Given the description of an element on the screen output the (x, y) to click on. 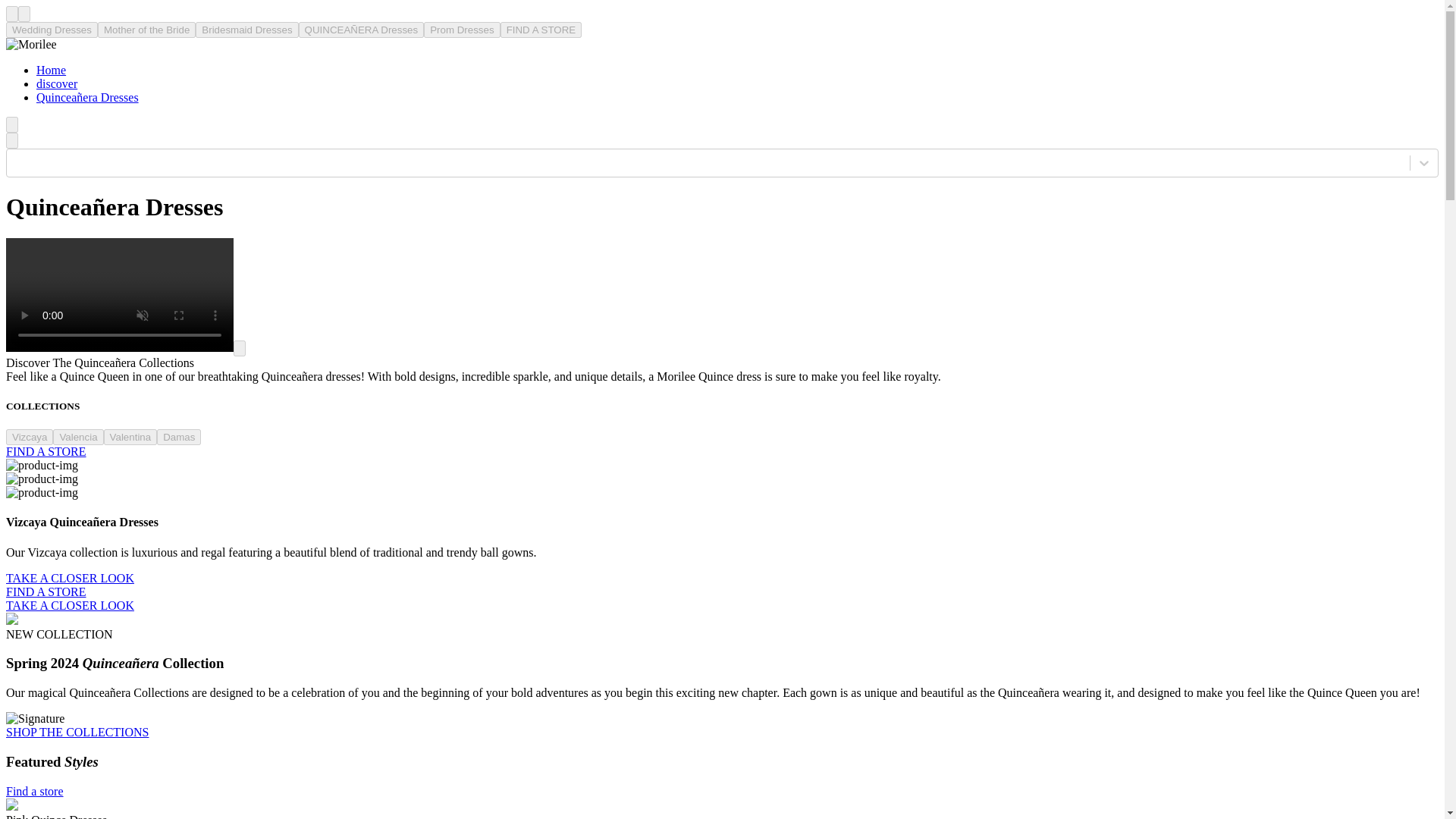
TAKE A CLOSER LOOK (69, 604)
discover (56, 83)
Bridesmaid Dresses (246, 29)
Wedding Dresses (51, 29)
Vizcaya (28, 437)
FIND A STORE (541, 29)
Home (50, 69)
Damas (178, 437)
Find a store (34, 790)
FIND A STORE (45, 591)
FIND A STORE (45, 451)
Mother of the Bride (146, 29)
TAKE A CLOSER LOOK (69, 577)
Valentina (130, 437)
Valencia (77, 437)
